Given the description of an element on the screen output the (x, y) to click on. 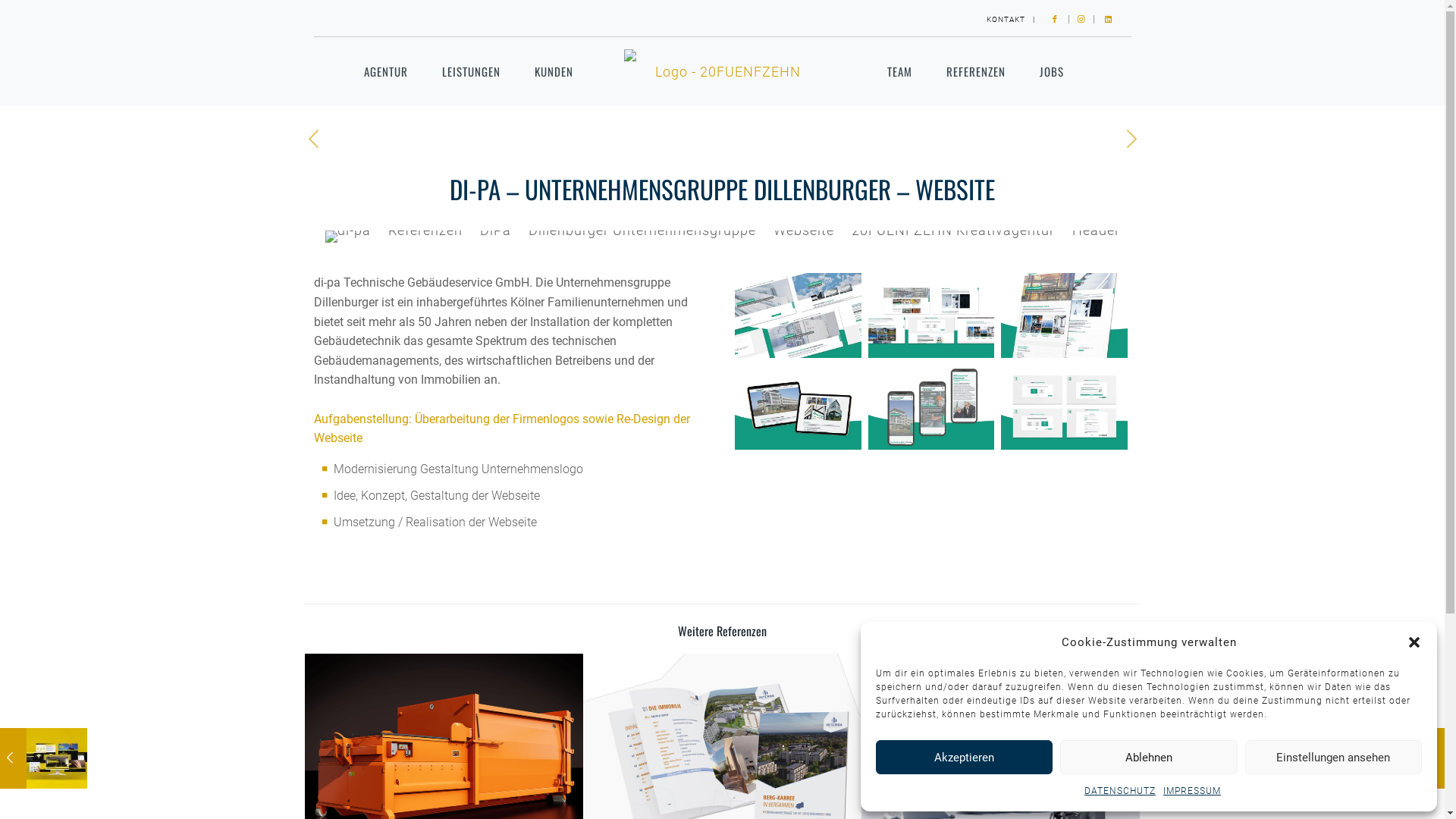
AGENTUR Element type: text (385, 71)
JOBS Element type: text (1051, 71)
KUNDEN Element type: text (553, 71)
DATENSCHUTZ Element type: text (1119, 790)
LEISTUNGEN Element type: text (470, 71)
20FUENFZEHN-Kreativagentur auf Instagram Element type: hover (1081, 19)
REFERENZEN Element type: text (975, 71)
Einstellungen ansehen Element type: text (1333, 757)
20FUENFZEHN-Kreativagentur auf LinkedIn Element type: hover (1106, 19)
IMPRESSUM Element type: text (1191, 790)
20FUENFZEHN-Kreativagentur auf Facebook Element type: hover (1055, 19)
Ablehnen Element type: text (1148, 757)
20FUENFZEHN-Kreativagentur Element type: hover (722, 71)
  Element type: text (1106, 19)
Akzeptieren Element type: text (963, 757)
KONTAKT| Element type: text (1009, 19)
TEAM Element type: text (899, 71)
